Given the description of an element on the screen output the (x, y) to click on. 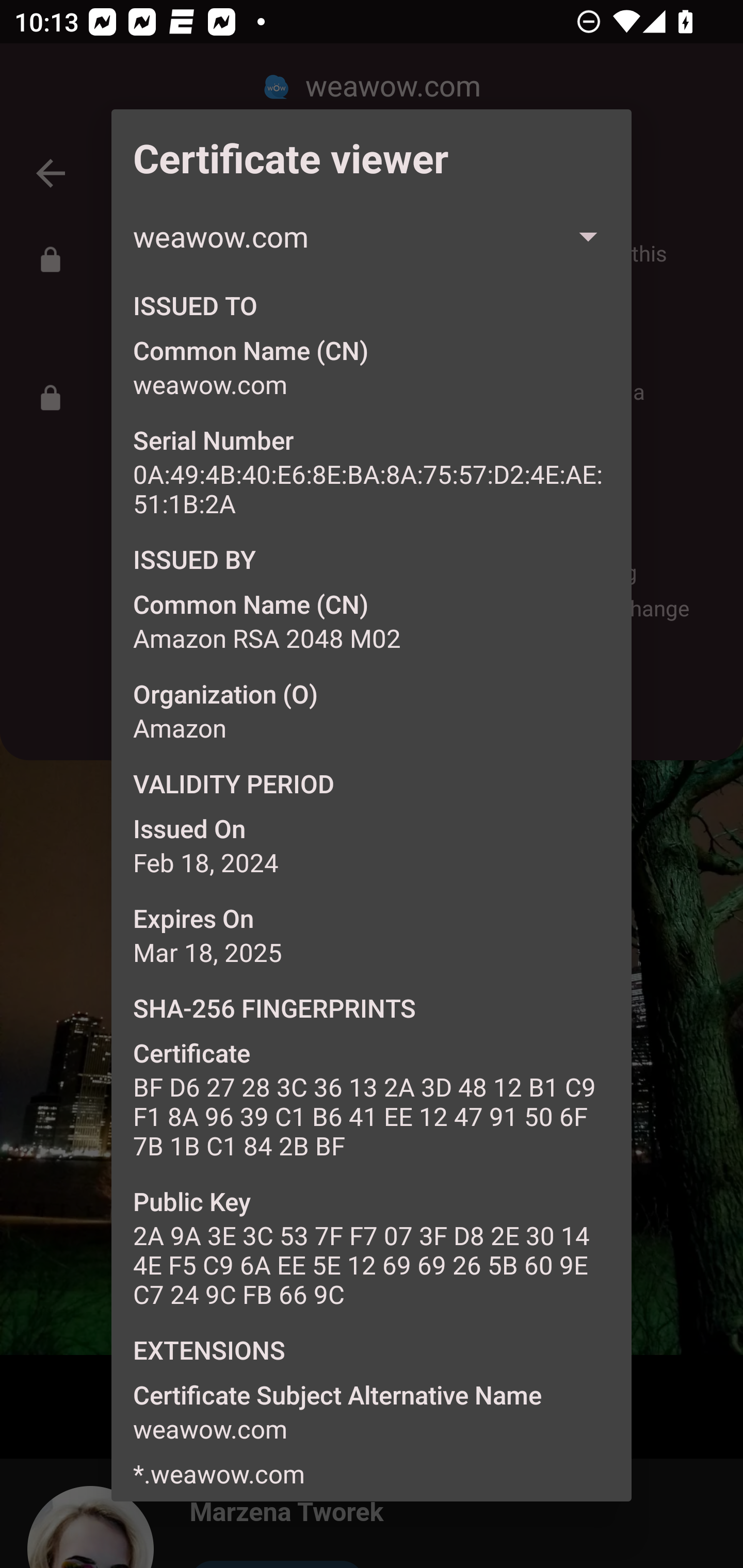
weawow.com (371, 235)
